Given the description of an element on the screen output the (x, y) to click on. 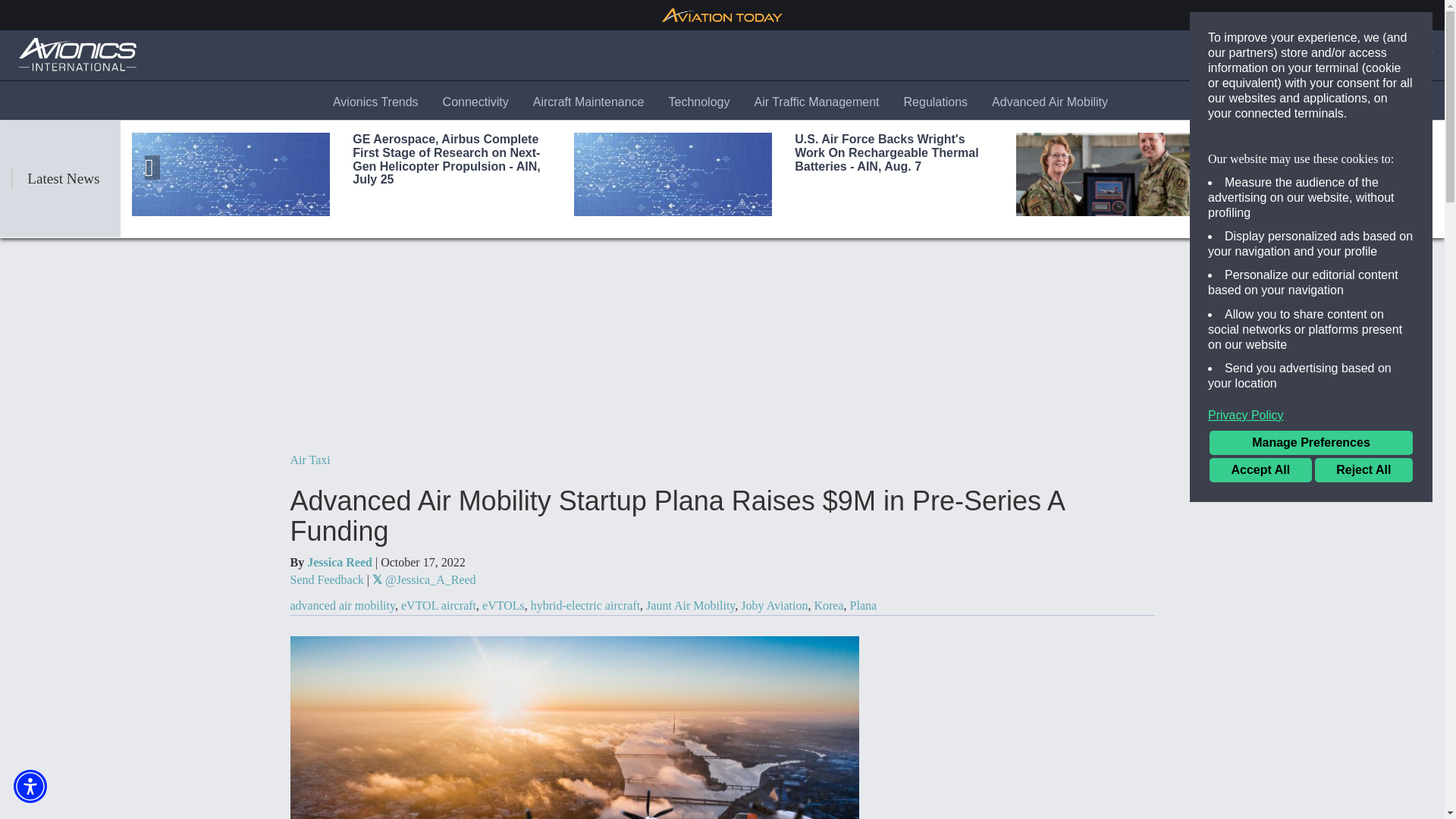
3rd party ad content (1017, 723)
Accept All (1260, 469)
Accessibility Menu (29, 786)
Reject All (1363, 469)
Manage Preferences (1310, 442)
Author Twitter (424, 579)
Privacy Policy (1310, 415)
Subscribe (1342, 55)
Search (1274, 55)
